Given the description of an element on the screen output the (x, y) to click on. 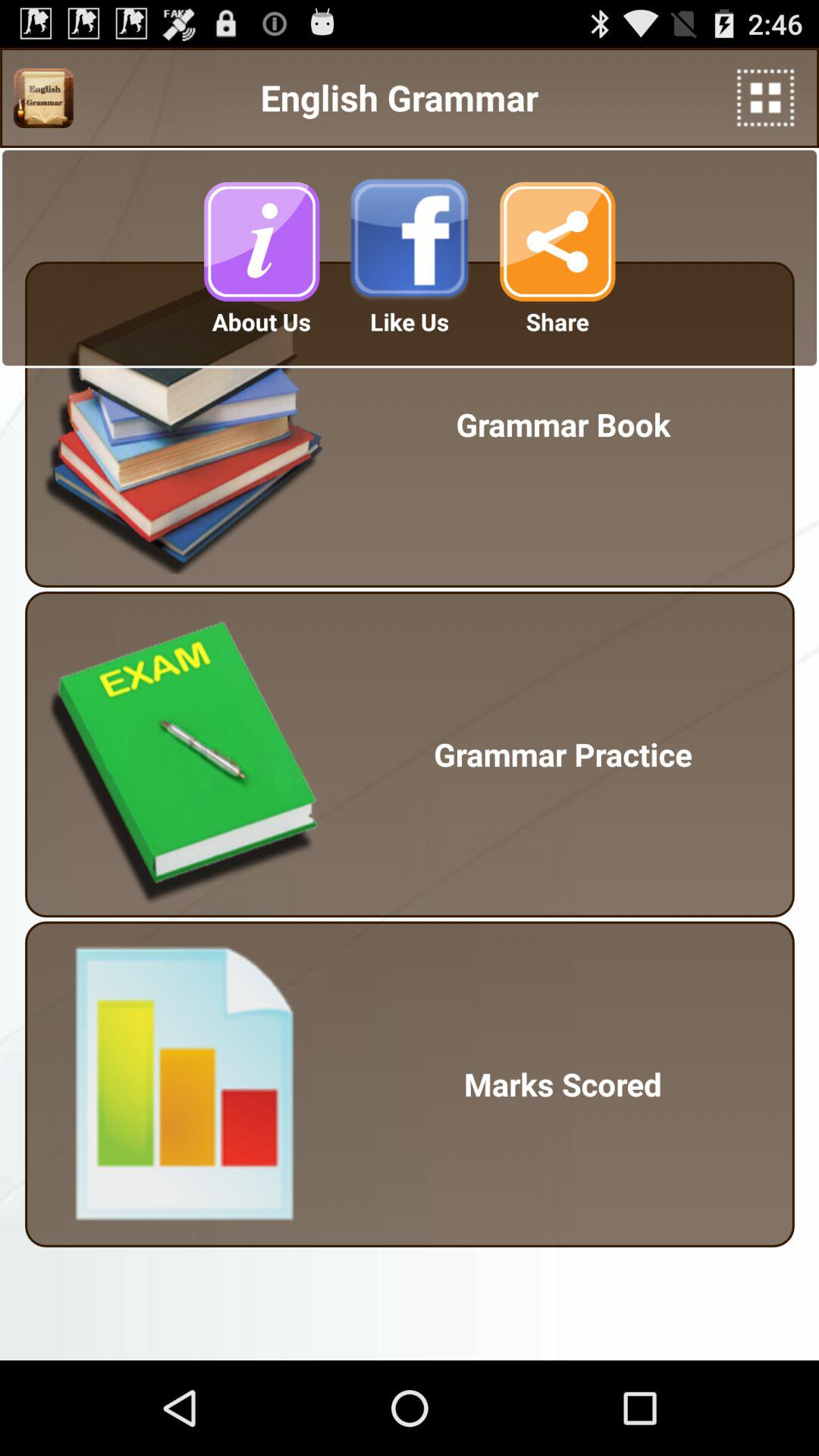
click the app to the left of english grammar icon (43, 97)
